Given the description of an element on the screen output the (x, y) to click on. 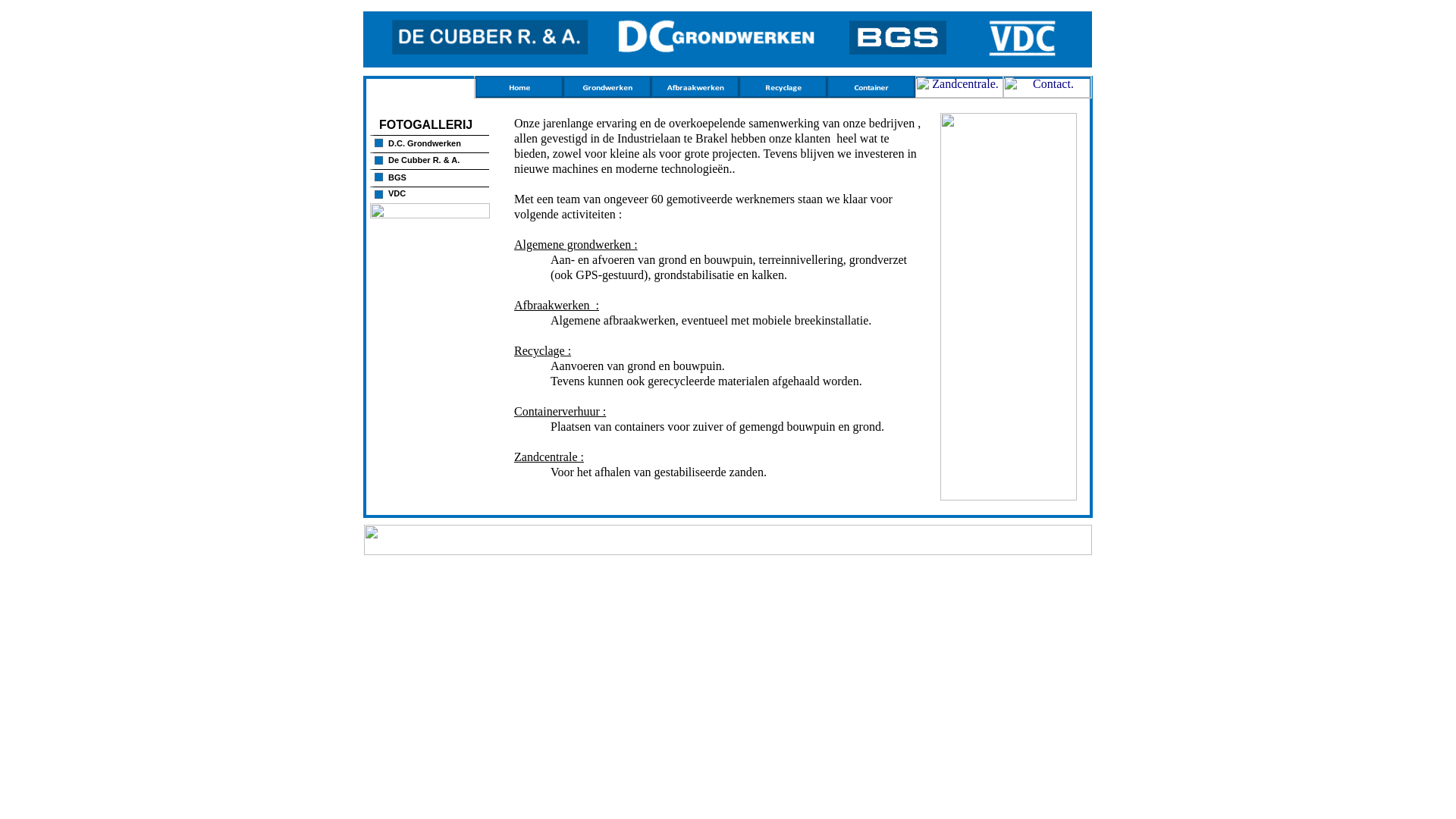
Contact Element type: hover (1047, 93)
Grondwerken Element type: hover (607, 93)
Zandcentrale Element type: hover (959, 93)
Home Element type: hover (519, 93)
Container Element type: hover (871, 93)
Afbraakwerken Element type: hover (695, 93)
Recyclage Element type: hover (783, 93)
